Given the description of an element on the screen output the (x, y) to click on. 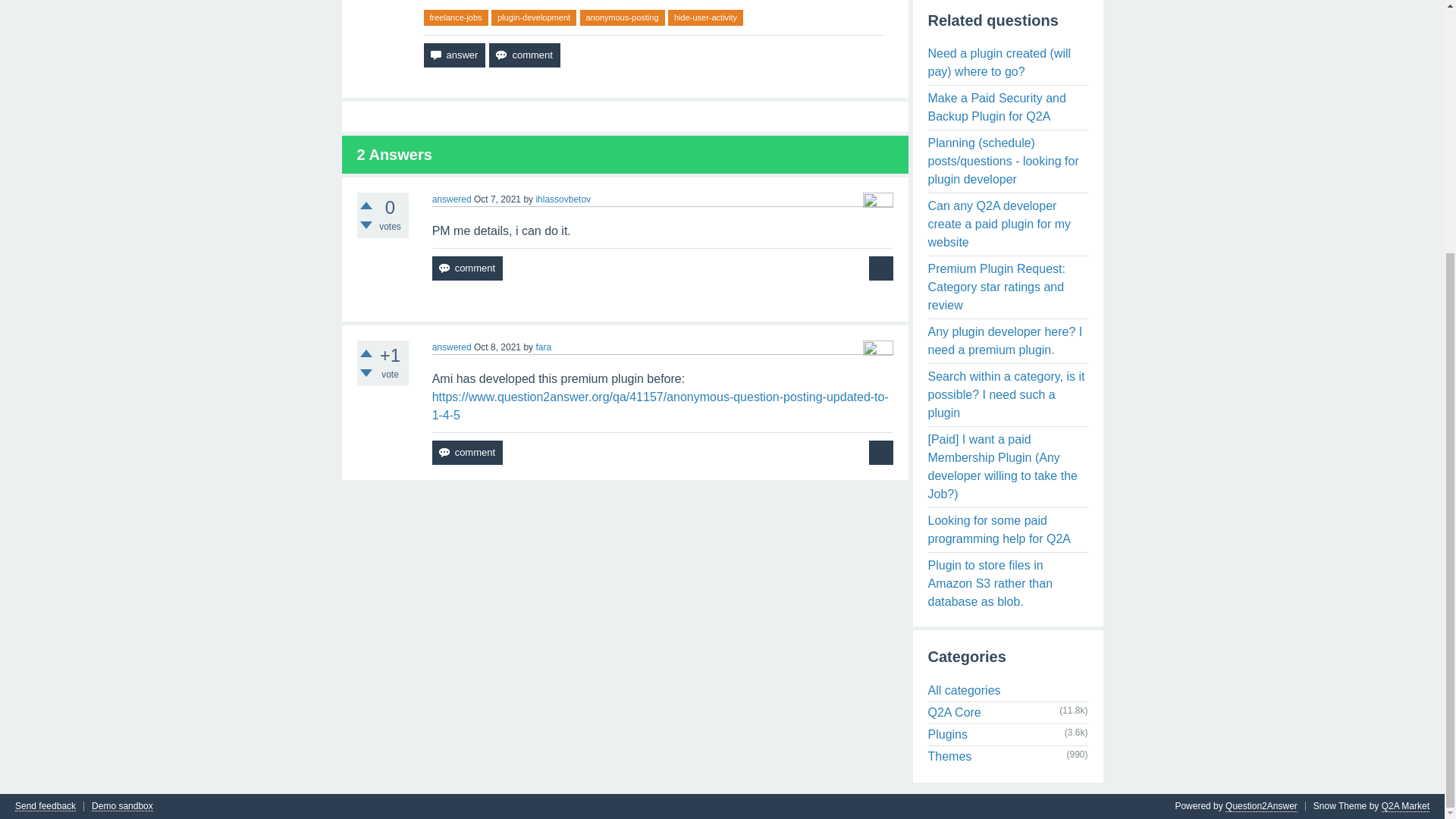
Click to vote up (365, 205)
answer (453, 55)
ask related question (881, 268)
anonymous-posting (622, 17)
Questions about the Question2Answer platform. (954, 712)
Click to vote down (365, 372)
comment (524, 55)
Add a comment on this question (524, 55)
Questions about plugins created for Q2A. (948, 734)
freelance-jobs (455, 17)
answer (453, 55)
Answer this question (453, 55)
Click to vote up (365, 353)
Add a comment on this answer (467, 452)
Ask a new question relating to this answer (881, 452)
